Given the description of an element on the screen output the (x, y) to click on. 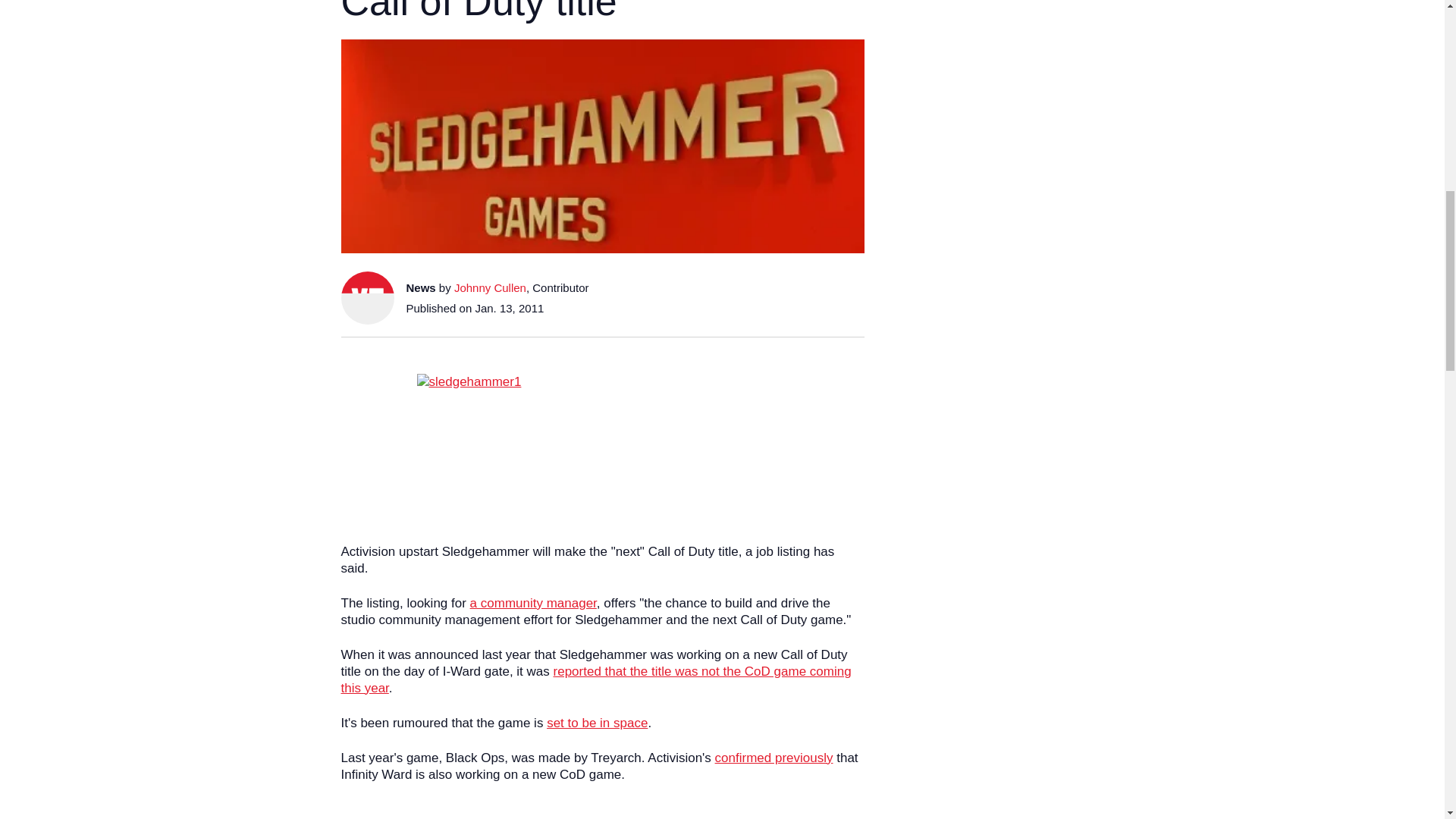
confirmed previously (773, 757)
a community manager (533, 603)
Johnny Cullen (489, 287)
set to be in space (597, 722)
